Given the description of an element on the screen output the (x, y) to click on. 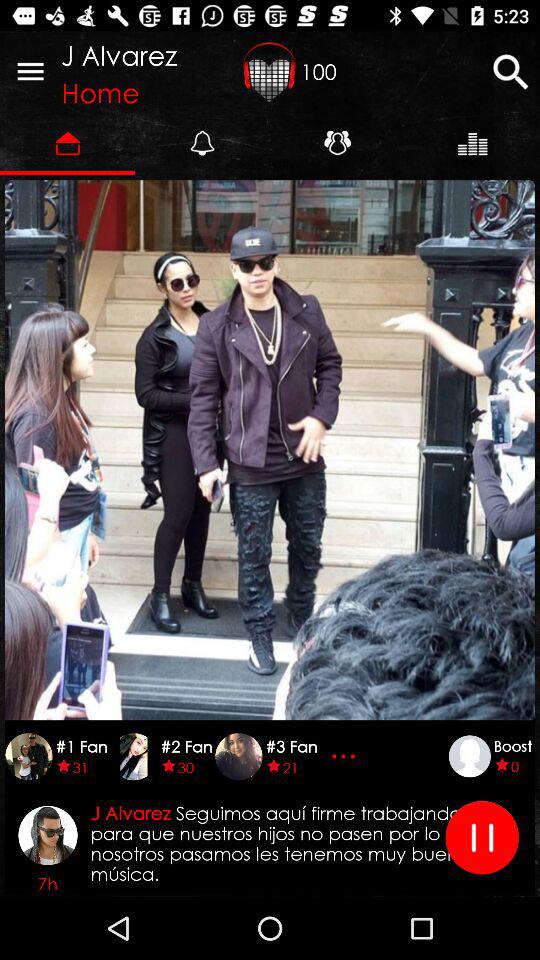
open menu options (30, 71)
